Given the description of an element on the screen output the (x, y) to click on. 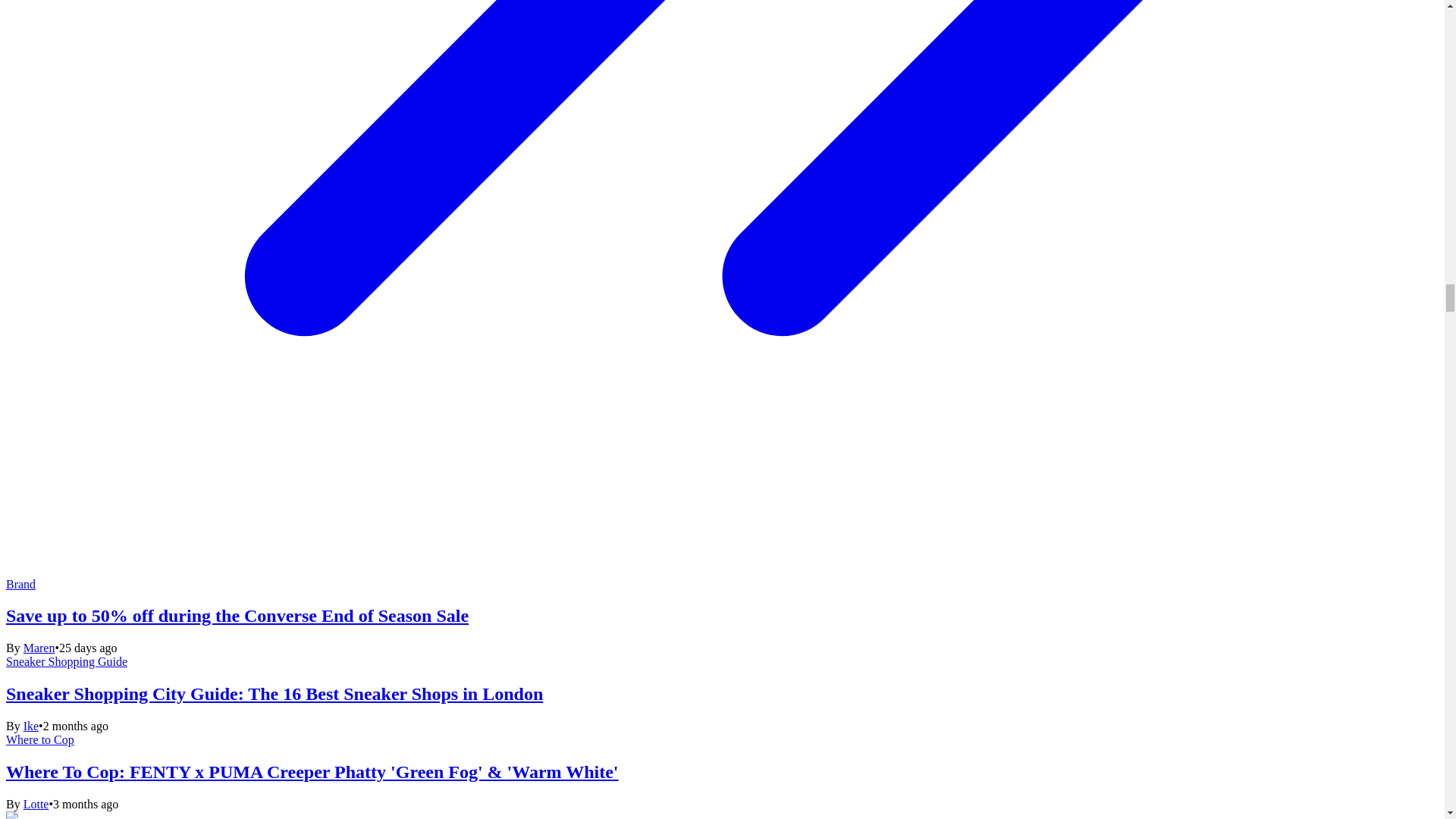
Lotte (36, 803)
Ike (31, 725)
Where to Cop (39, 739)
Sneaker Shopping Guide (66, 661)
Brand (19, 584)
Maren (39, 647)
